Given the description of an element on the screen output the (x, y) to click on. 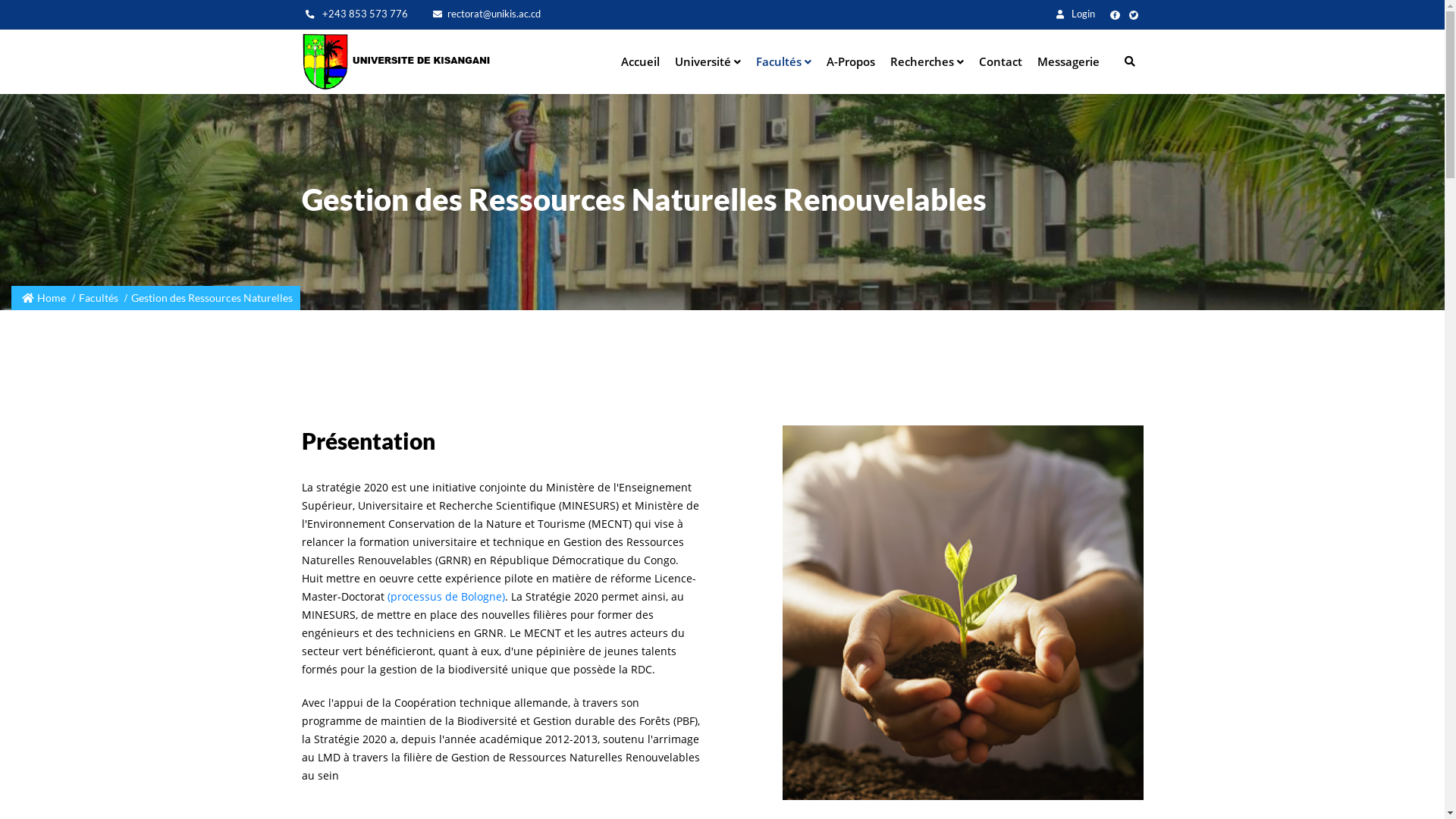
Login Element type: text (1074, 13)
Contact Element type: text (1000, 61)
Home Element type: text (51, 297)
Home Element type: hover (396, 61)
rectorat@unikis.ac.cd Element type: text (485, 13)
Recherches Element type: text (926, 61)
+243 853 573 776 Element type: text (355, 13)
A-Propos Element type: text (850, 61)
Accueil Element type: text (640, 61)
(processus de Bologne) Element type: text (445, 596)
Skip to main content Element type: text (721, 1)
agro Element type: hover (962, 612)
Messagerie Element type: text (1068, 61)
